Given the description of an element on the screen output the (x, y) to click on. 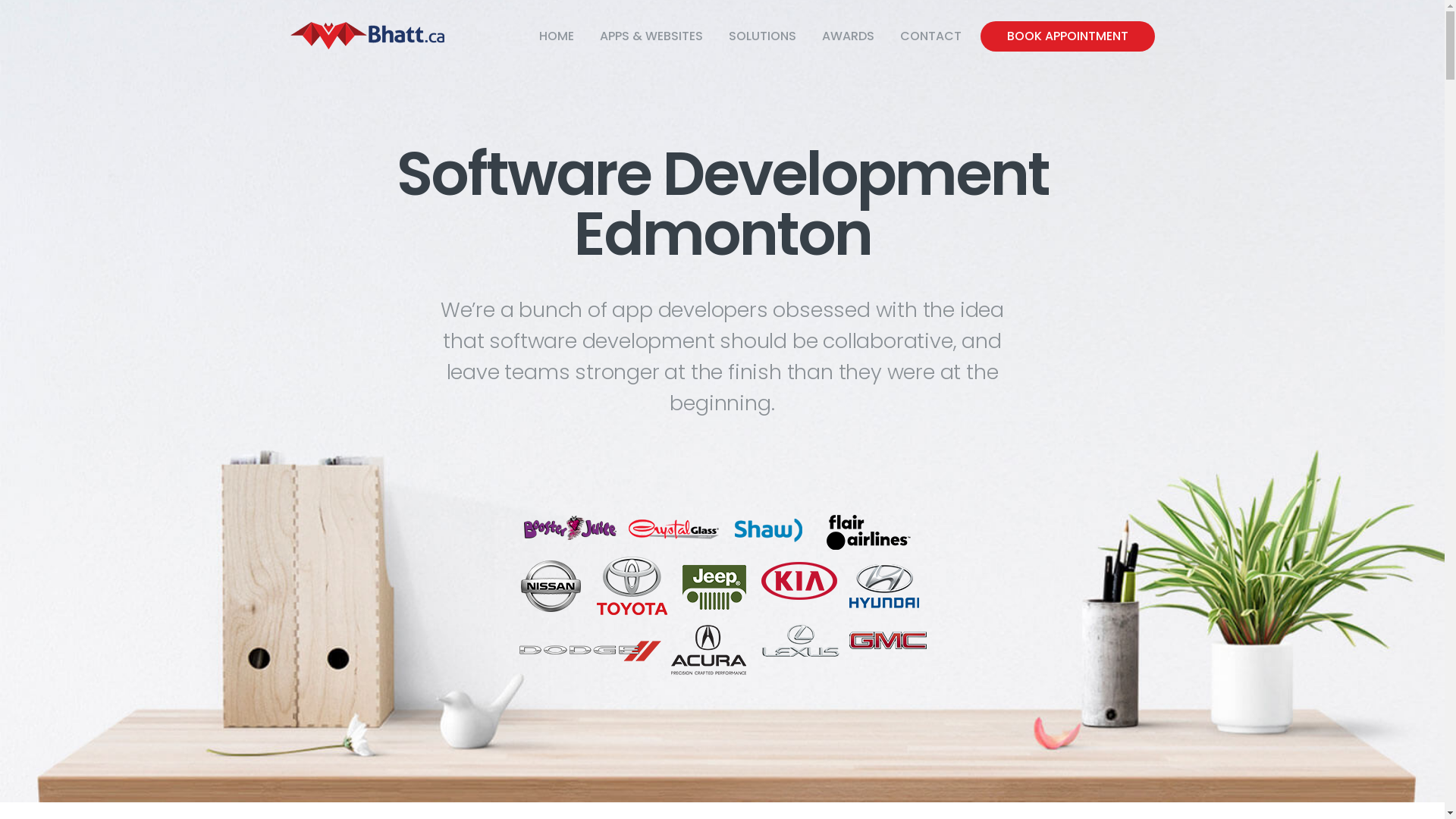
HOME Element type: text (556, 36)
BOOK APPOINTMENT Element type: text (1066, 36)
SOLUTIONS Element type: text (762, 36)
CONTACT Element type: text (930, 36)
AWARDS Element type: text (847, 36)
APPS & WEBSITES Element type: text (650, 36)
